Given the description of an element on the screen output the (x, y) to click on. 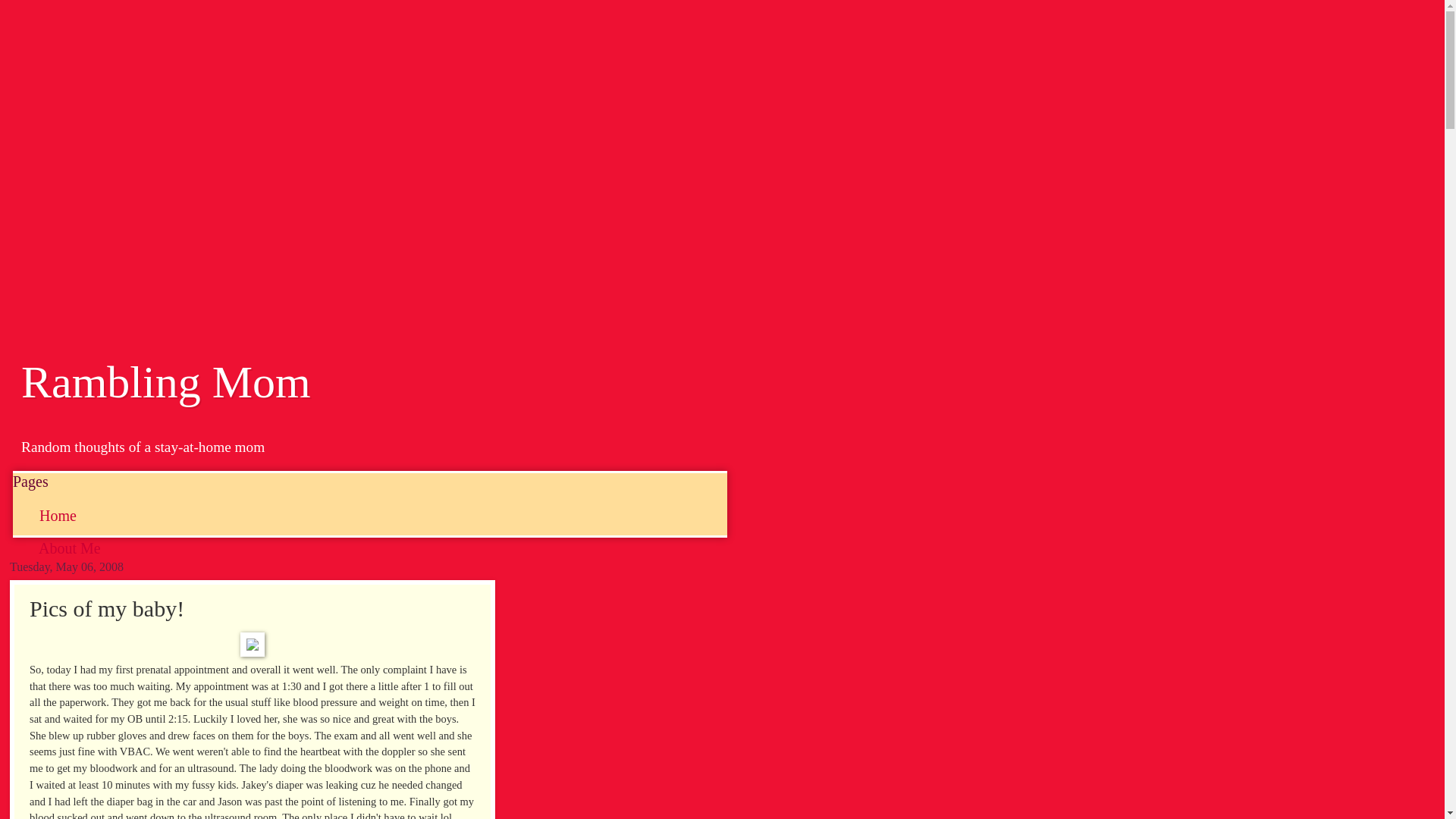
About Me (69, 548)
Home (58, 515)
Rambling Mom (166, 382)
